Given the description of an element on the screen output the (x, y) to click on. 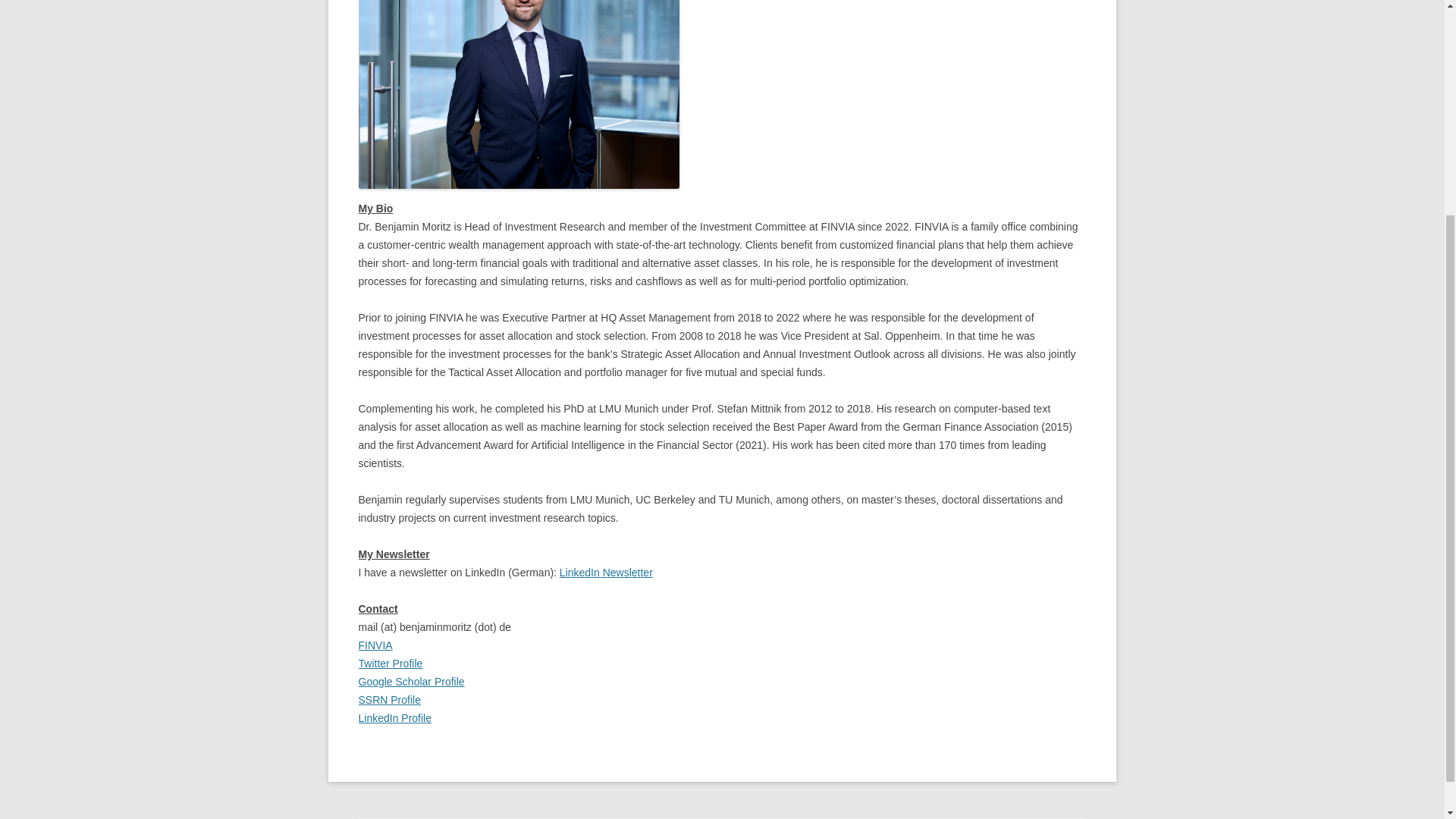
FINVIA (374, 645)
Google Scholar Profile (411, 681)
LinkedIn Profile (394, 717)
Twitter Profile (390, 663)
SSRN Profile (389, 699)
LinkedIn Newsletter (605, 572)
